Given the description of an element on the screen output the (x, y) to click on. 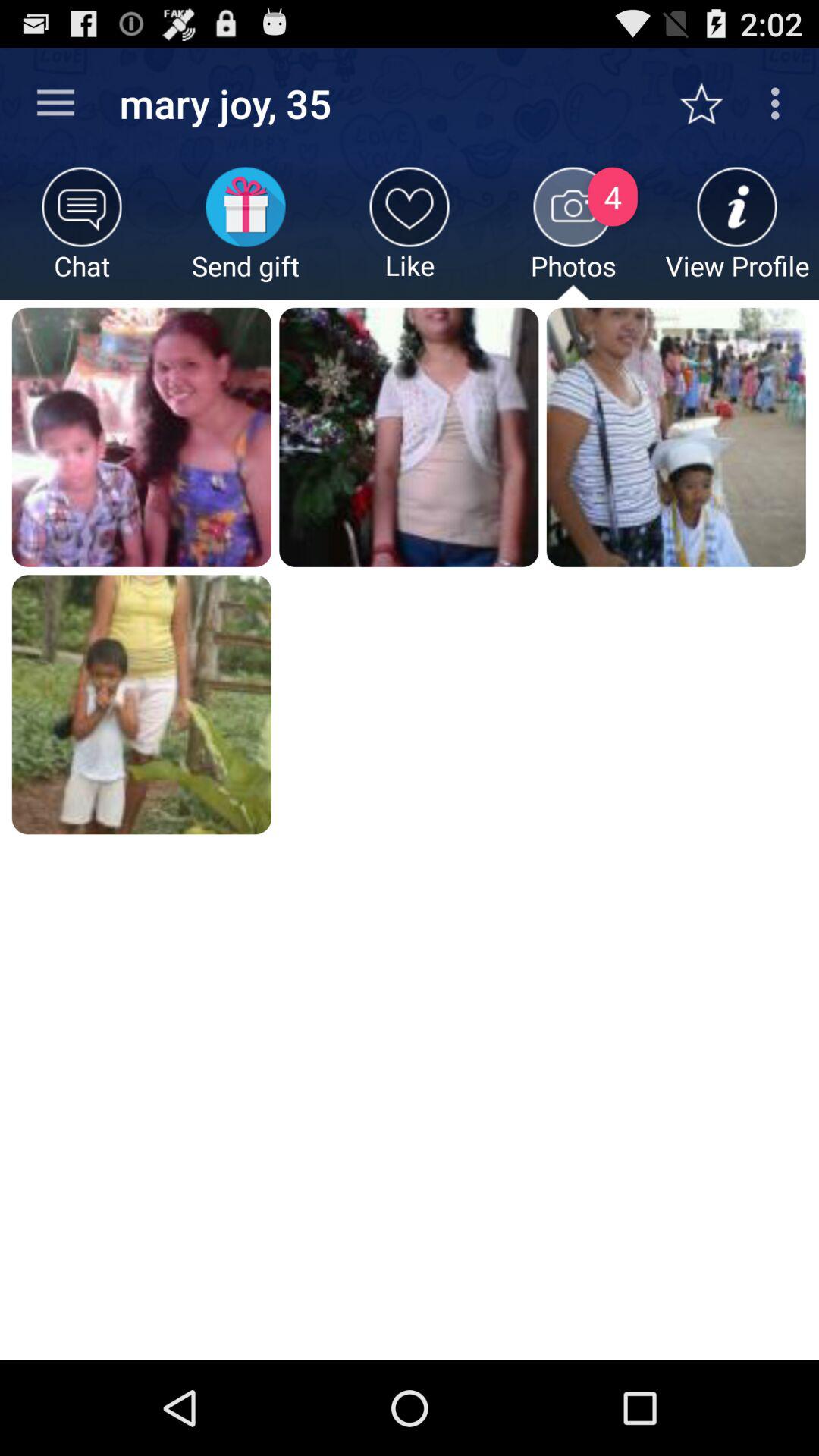
select icon next to the send gift (81, 233)
